Given the description of an element on the screen output the (x, y) to click on. 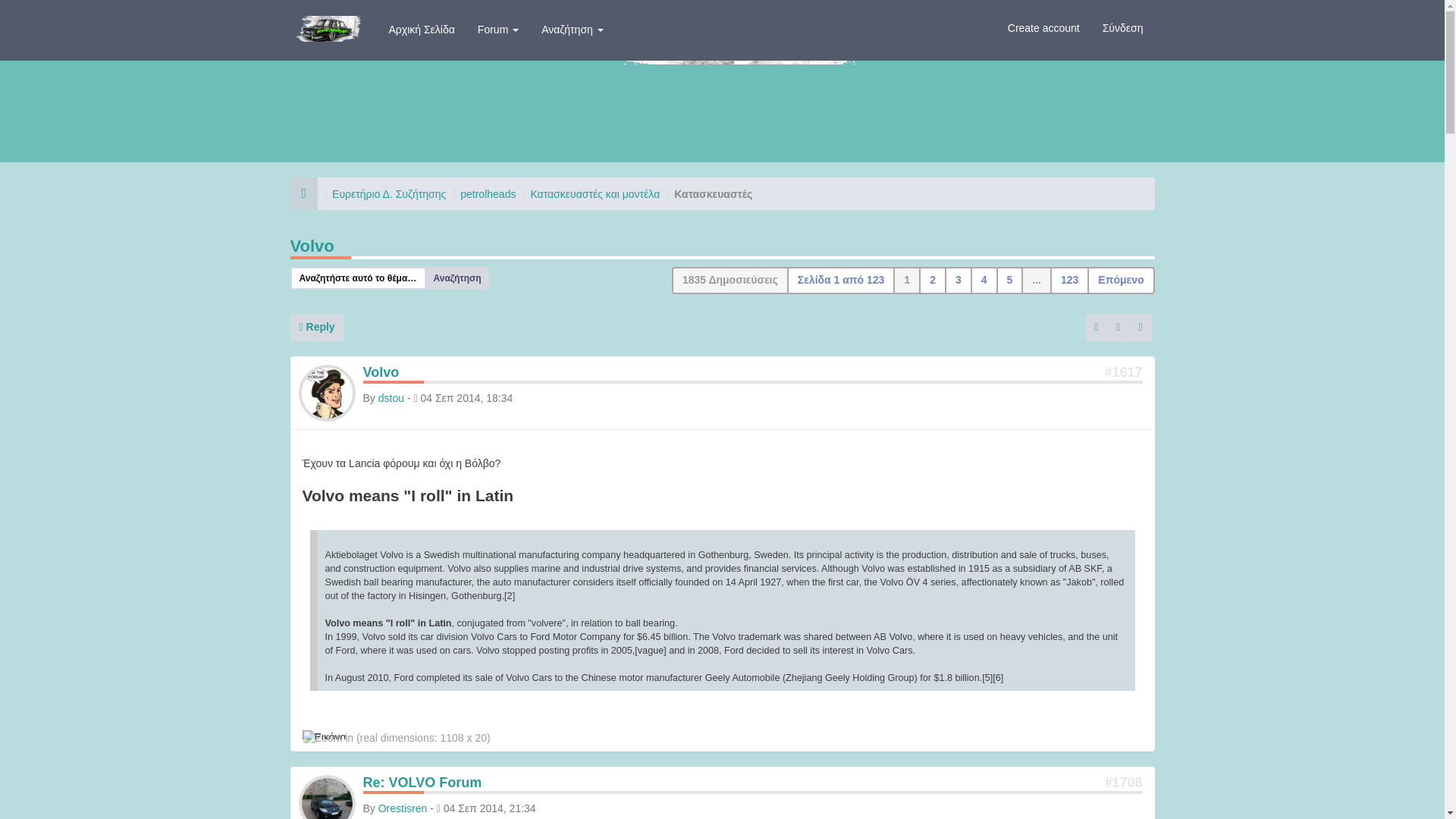
 Reply (316, 327)
Create account (1042, 27)
1 (906, 280)
... (1036, 280)
4 (984, 280)
Post (1122, 372)
3 (958, 280)
User mini profile (326, 802)
Volvo (311, 245)
Forum (497, 29)
